Given the description of an element on the screen output the (x, y) to click on. 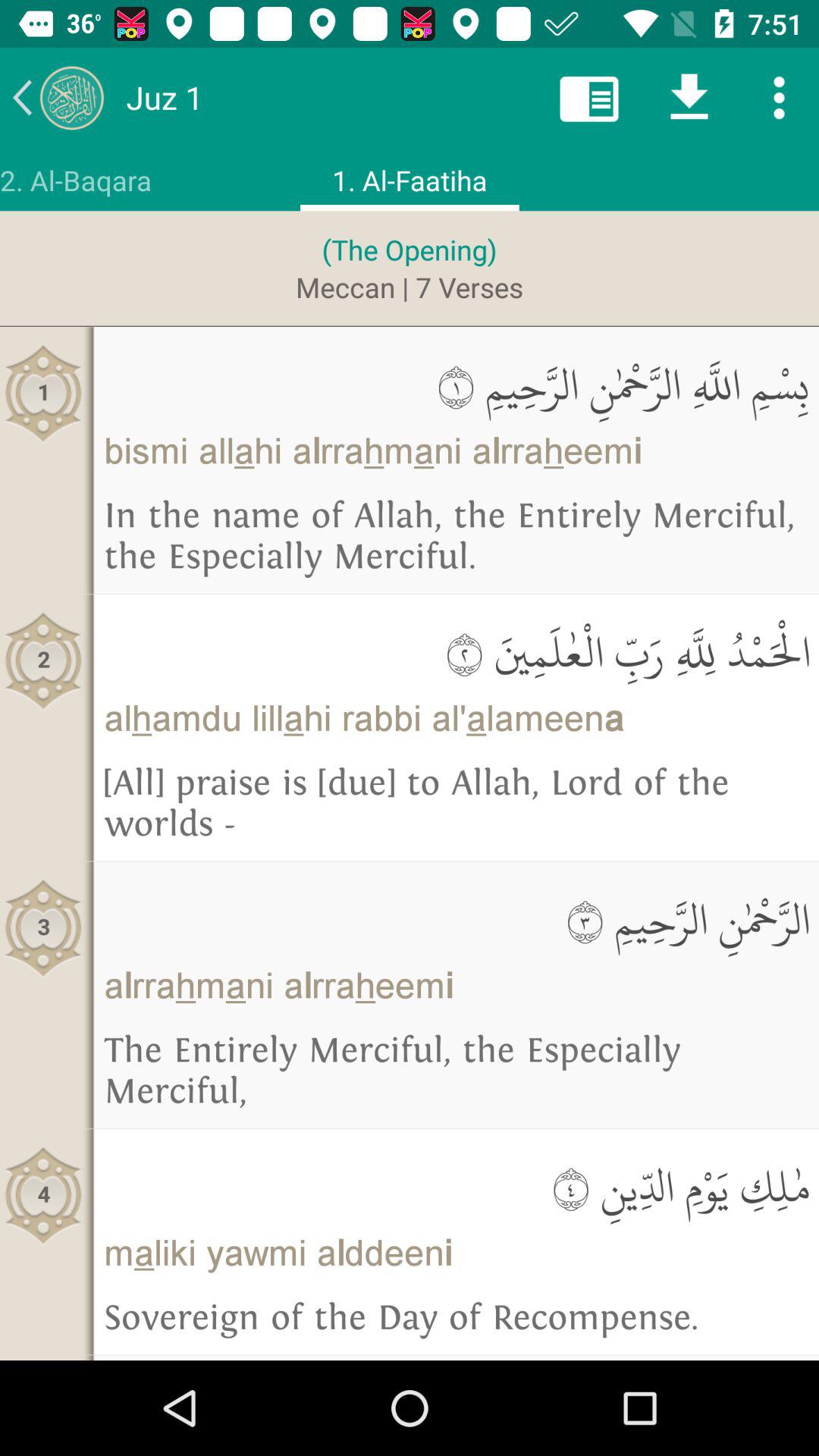
go to previous (58, 97)
